Given the description of an element on the screen output the (x, y) to click on. 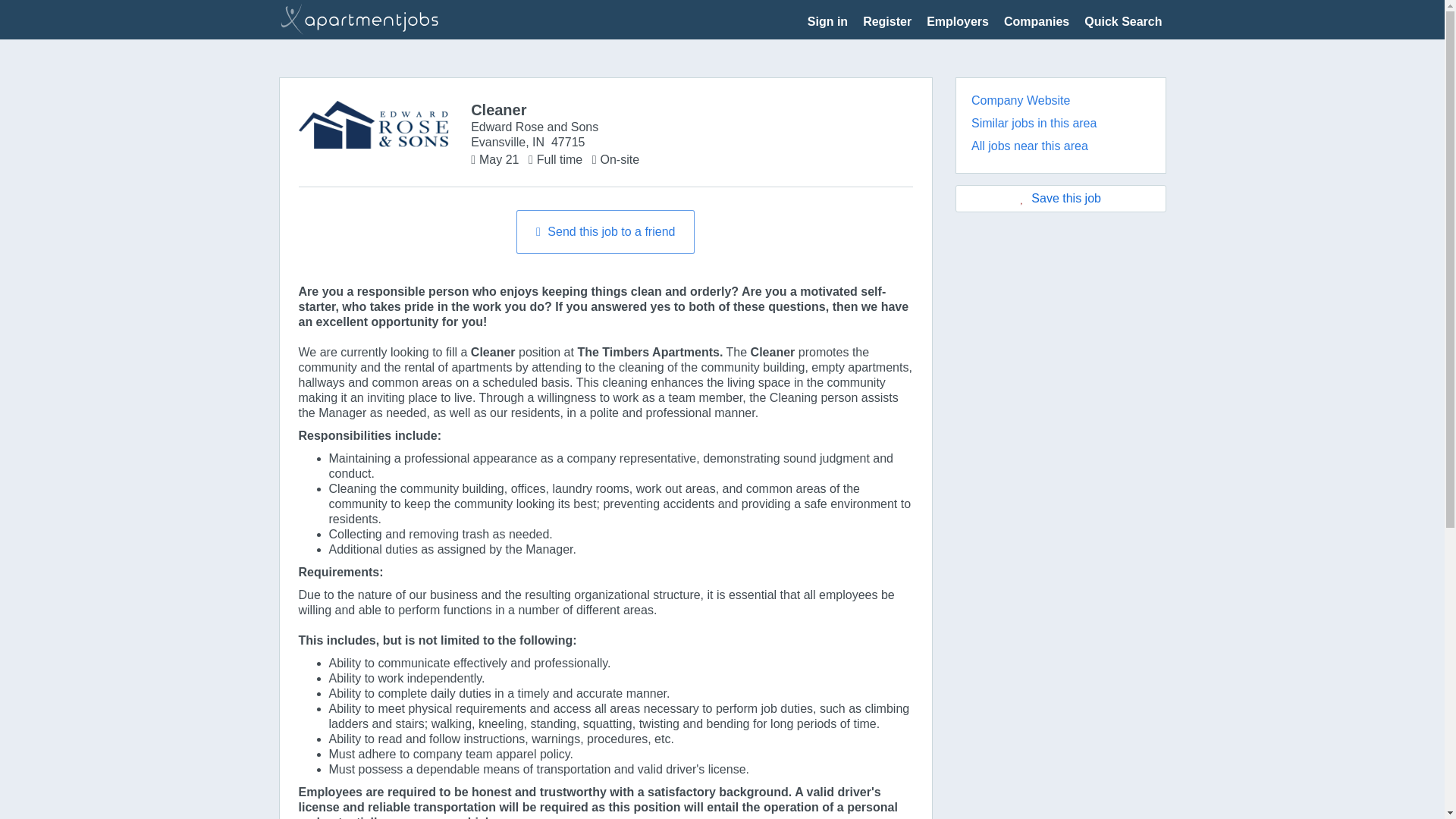
Companies (1036, 21)
All jobs near this area (1029, 145)
Company Website (1020, 100)
Quick Search (1122, 21)
 Save this job (1060, 198)
Employers (957, 21)
Sign in (827, 21)
Register (887, 21)
Similar jobs in this area (1033, 123)
 Send this job to a friend (605, 231)
